Given the description of an element on the screen output the (x, y) to click on. 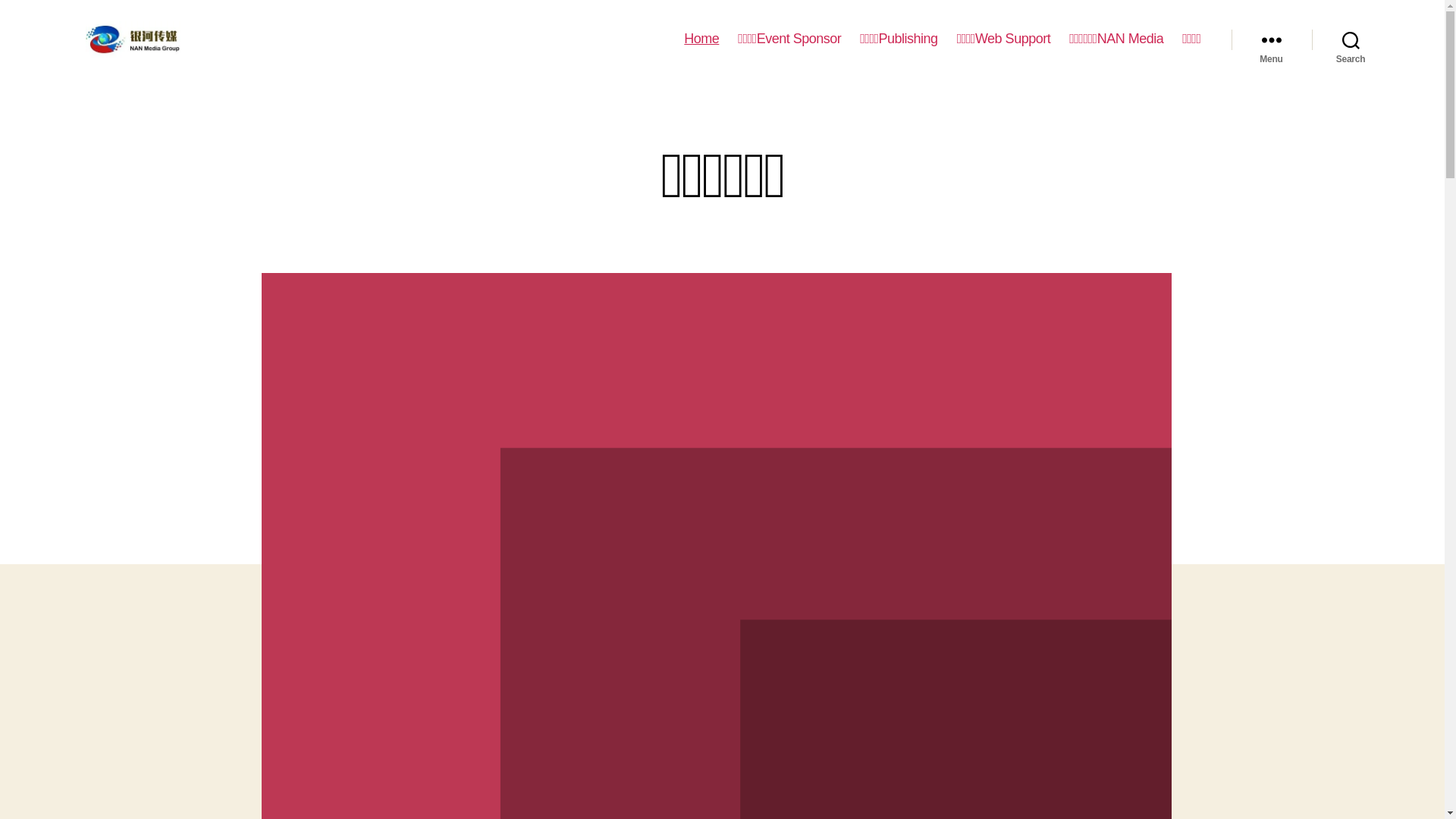
Home Element type: text (701, 39)
Search Element type: text (1350, 39)
Menu Element type: text (1271, 39)
